Given the description of an element on the screen output the (x, y) to click on. 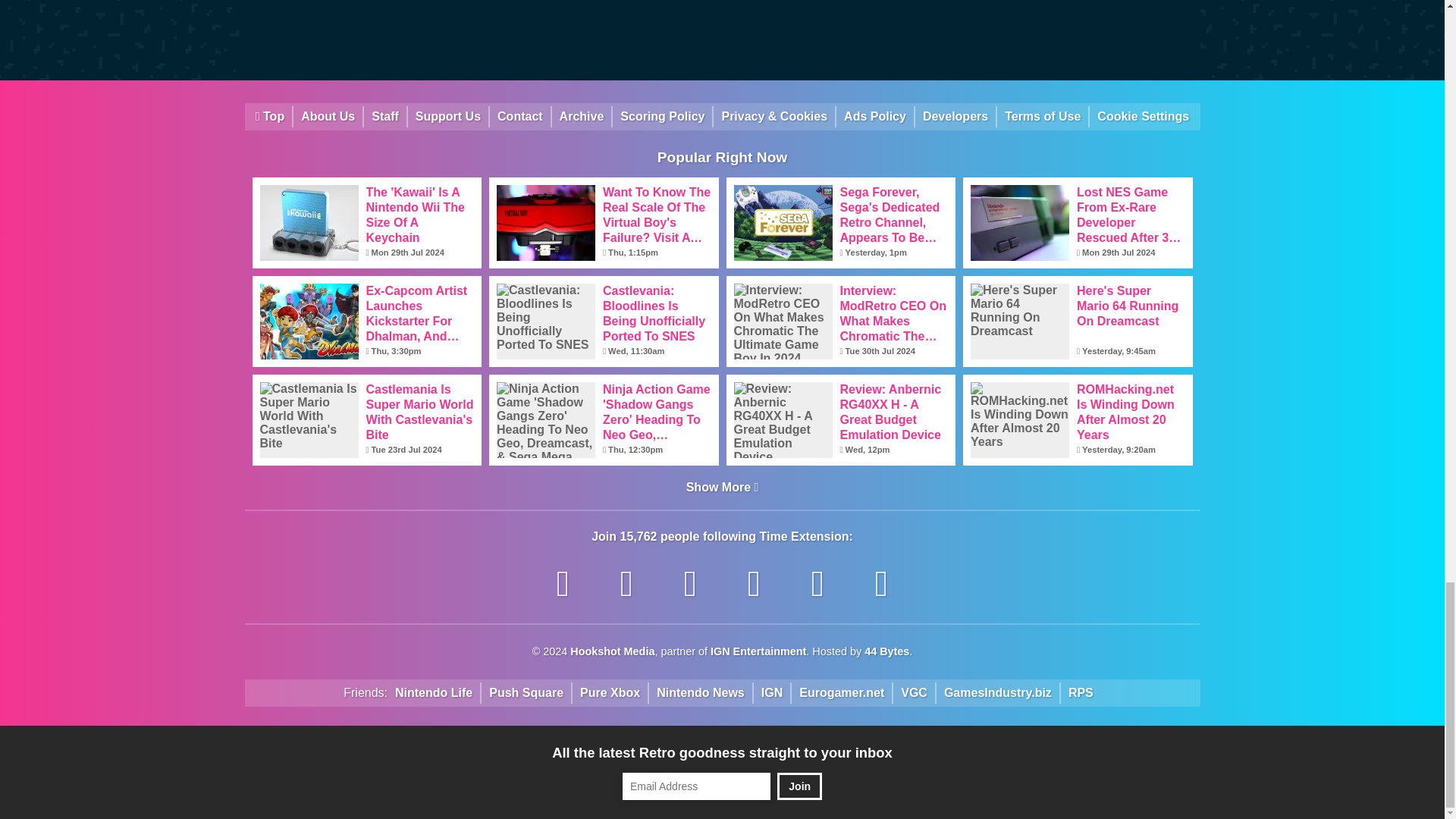
Join (799, 786)
